Given the description of an element on the screen output the (x, y) to click on. 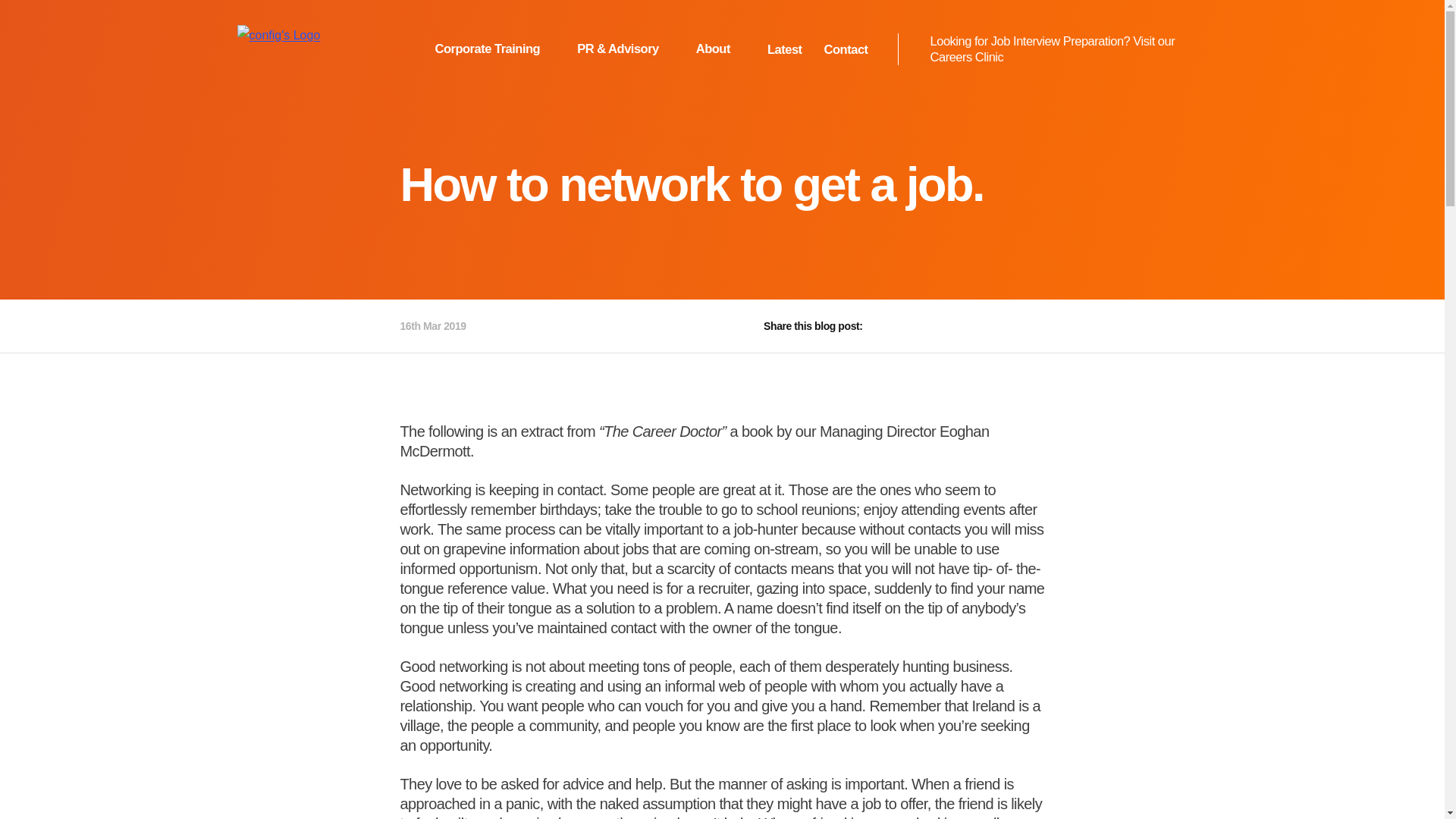
Contact (845, 48)
Latest (784, 48)
LinkedIn (959, 326)
Email (994, 326)
Facebook (890, 326)
WhatsApp (1029, 326)
Twitter (925, 326)
